Given the description of an element on the screen output the (x, y) to click on. 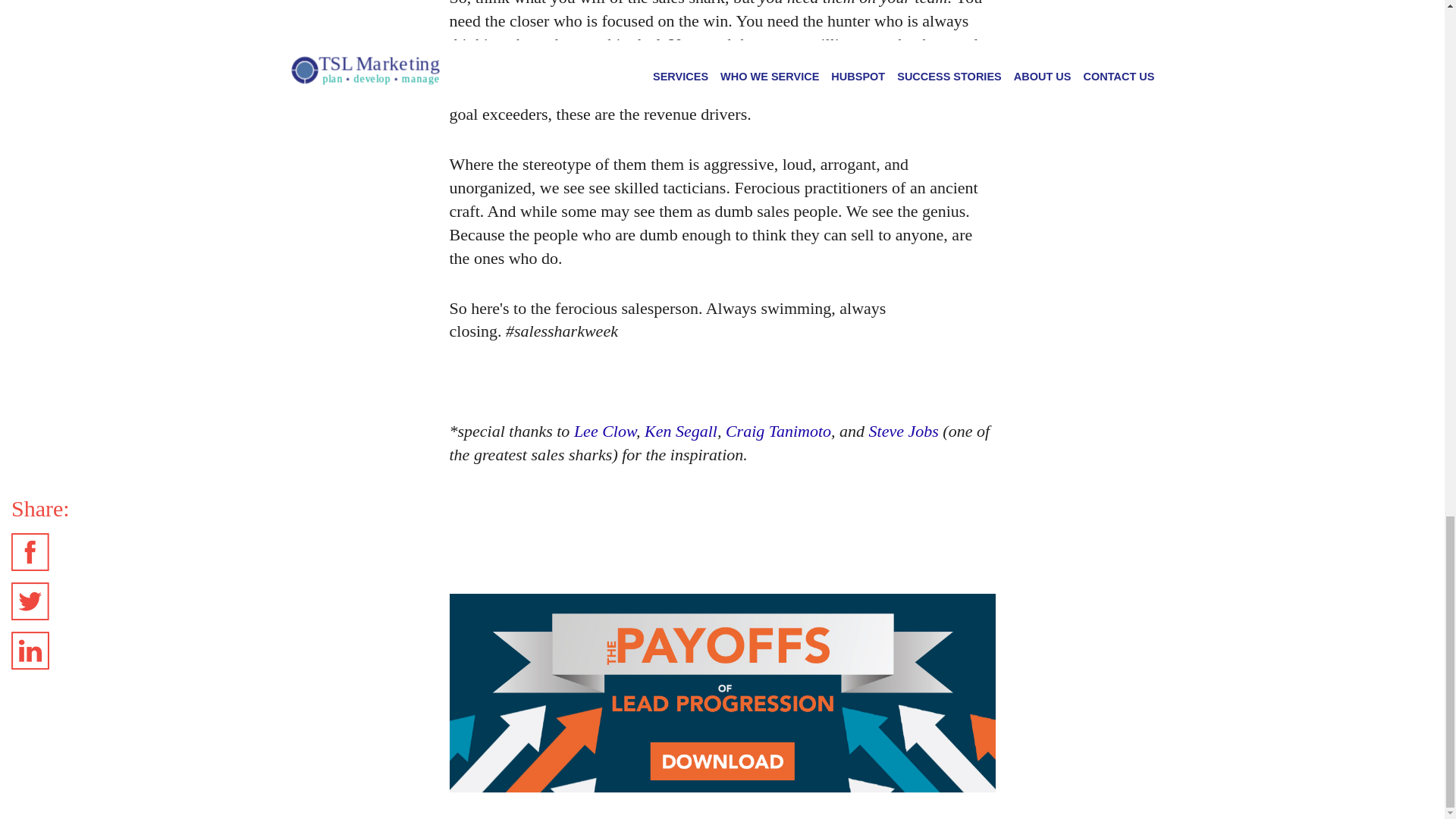
Ken Segall (681, 430)
Lee Clow (604, 430)
Steve Jobs (904, 430)
Craig Tanimoto (778, 430)
